Given the description of an element on the screen output the (x, y) to click on. 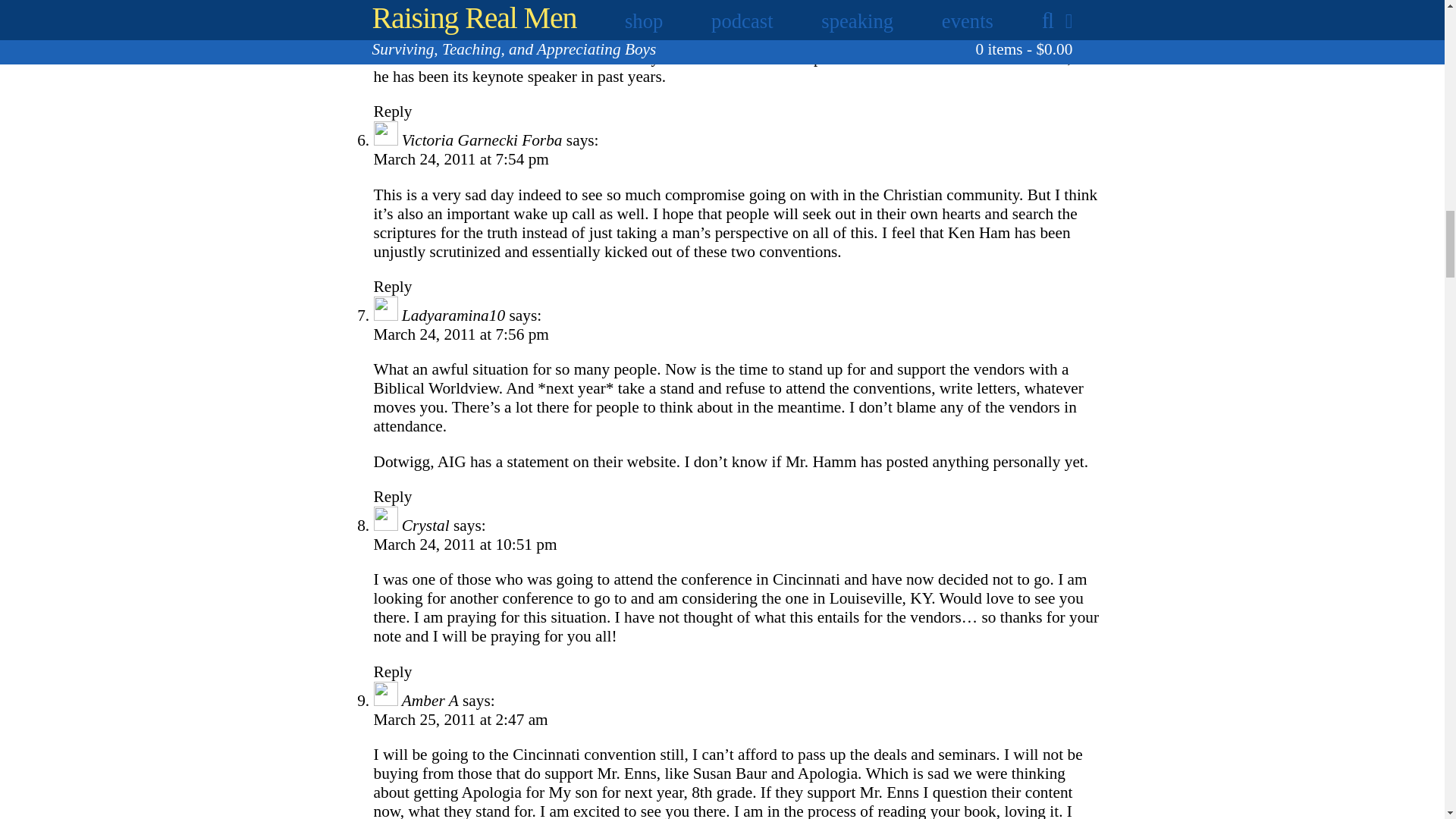
March 24, 2011 at 7:31 pm (460, 22)
Reply (392, 111)
March 24, 2011 at 7:54 pm (460, 158)
Victoria Garnecki Forba (481, 140)
